Given the description of an element on the screen output the (x, y) to click on. 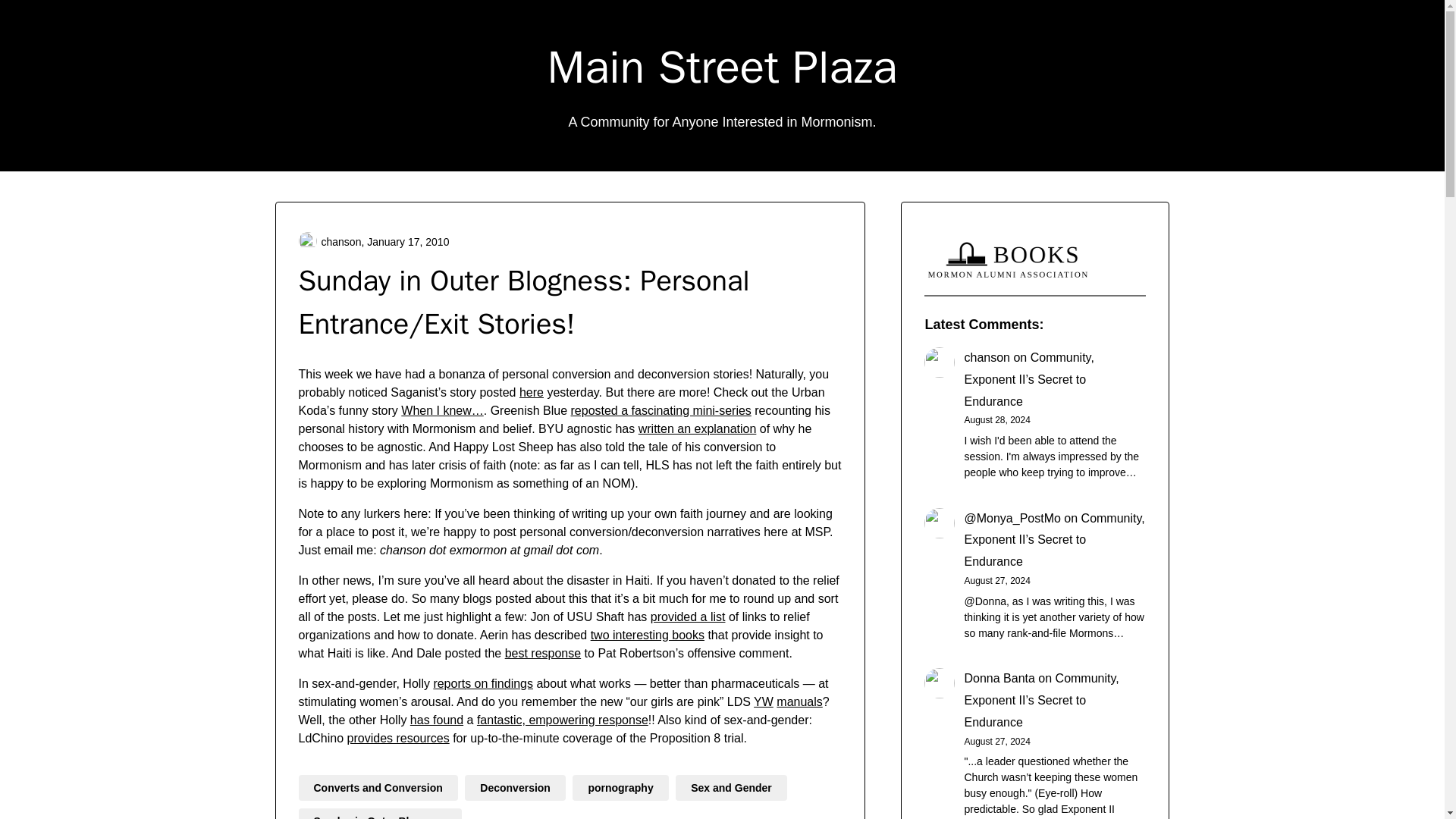
pornography (620, 787)
manuals (799, 701)
has found (436, 719)
reposted a fascinating mini-series (660, 410)
Converts and Conversion (378, 787)
Sex and Gender (731, 787)
reports on findings (482, 683)
here (531, 391)
YW (763, 701)
January 17, 2010 (407, 241)
